Given the description of an element on the screen output the (x, y) to click on. 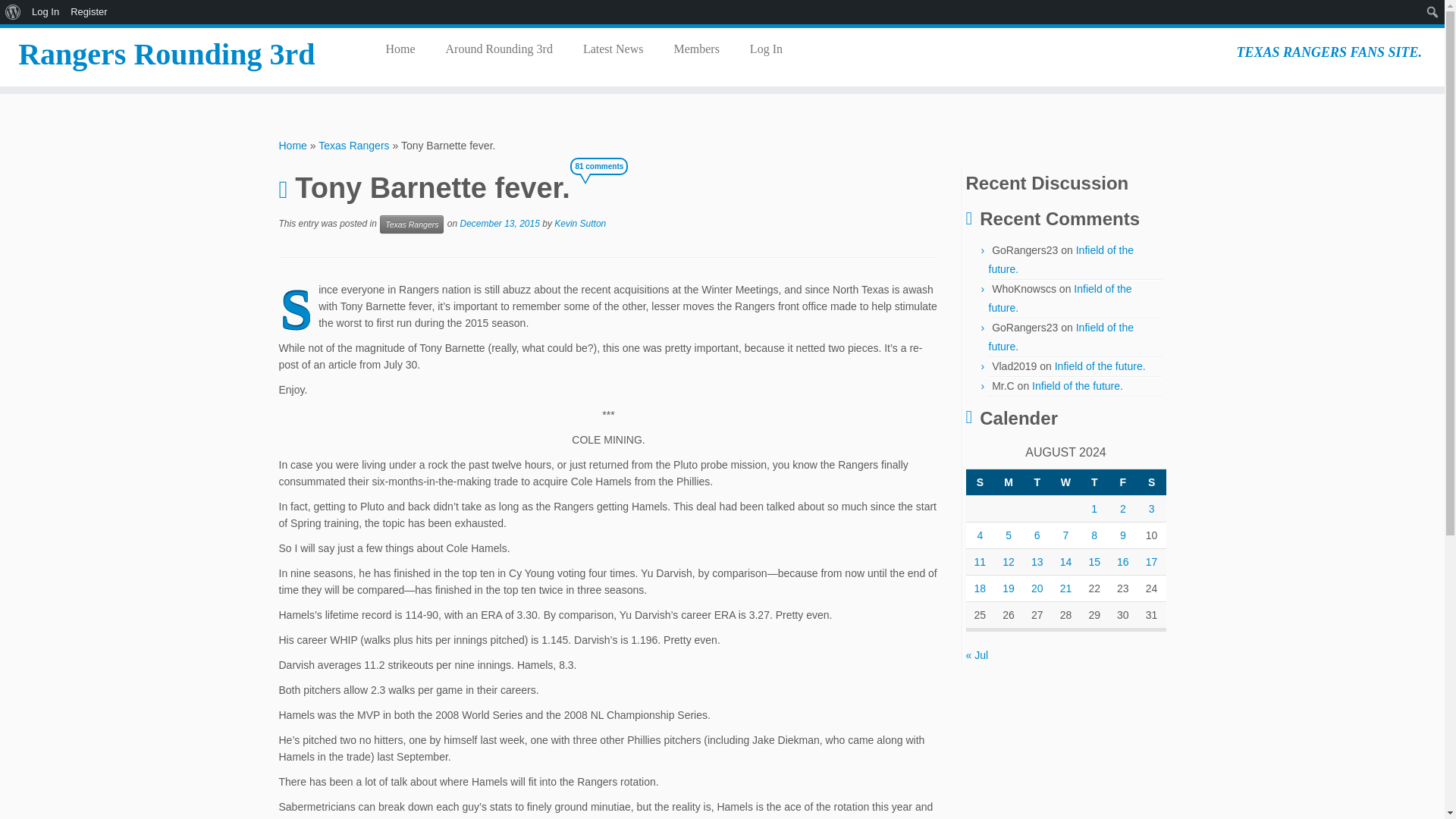
Search (16, 12)
Infield of the future. (1099, 366)
7:56 am (499, 223)
Latest News (613, 48)
Thursday (1094, 481)
Kevin Sutton (579, 223)
Home Page (405, 48)
Rangers Rounding 3rd (166, 54)
Register (89, 12)
81 comments (606, 180)
